Given the description of an element on the screen output the (x, y) to click on. 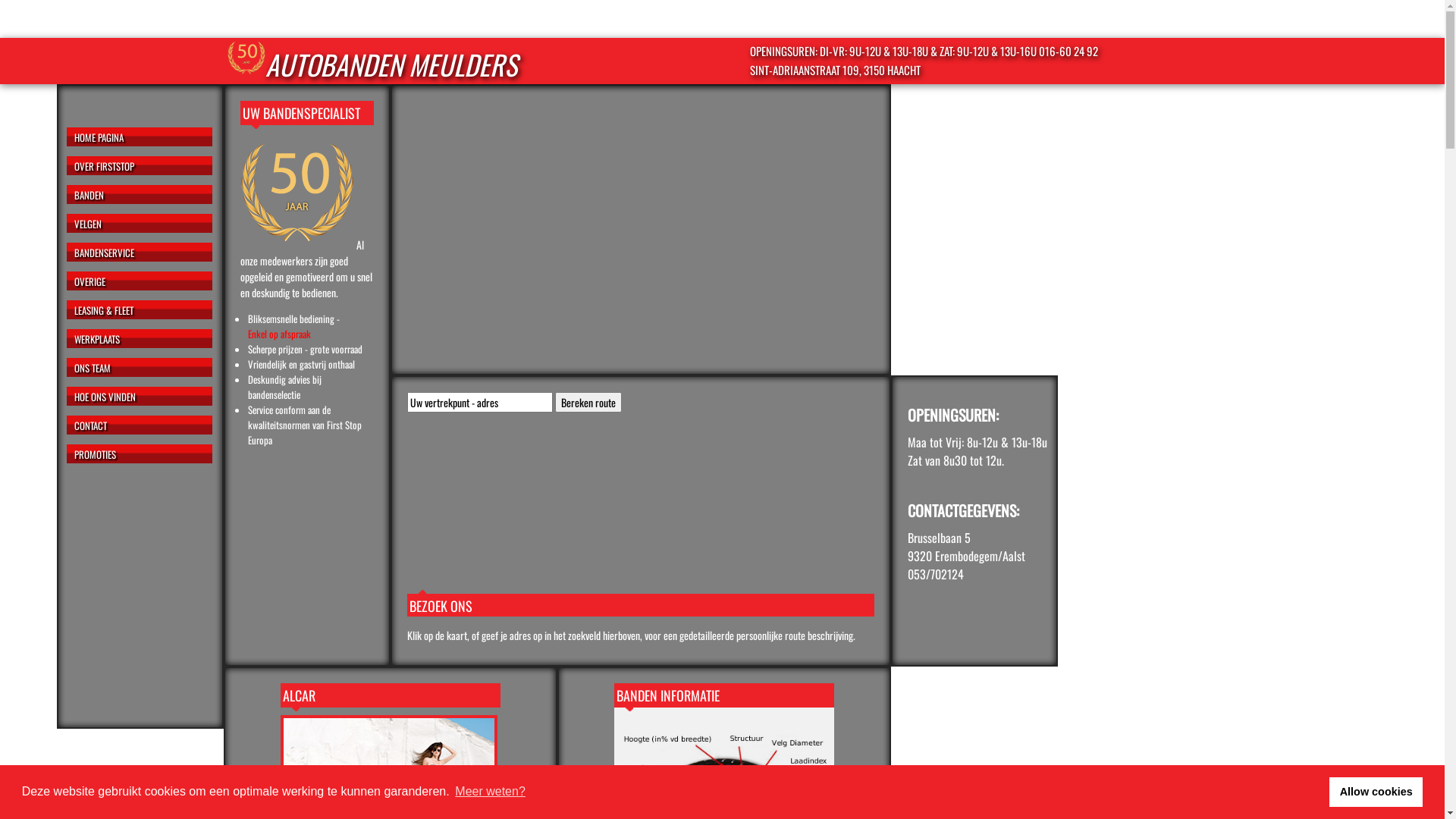
Bereken route Element type: text (588, 402)
Meer weten? Element type: text (489, 791)
Allow cookies Element type: text (1375, 791)
